Given the description of an element on the screen output the (x, y) to click on. 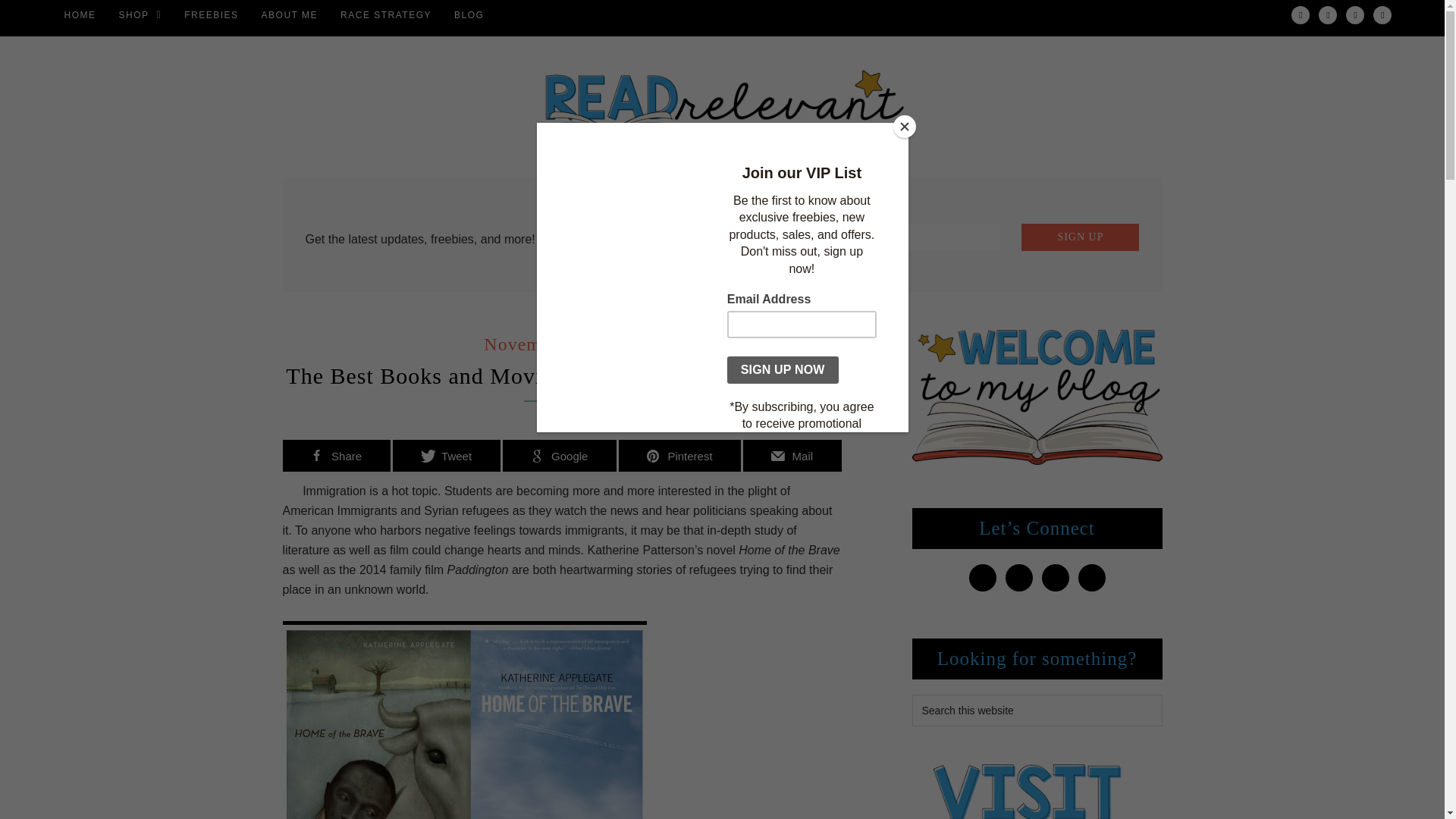
Share (336, 455)
RACE STRATEGY (385, 15)
FREEBIES (210, 15)
BLOG (468, 15)
SHOP (140, 15)
Google (558, 455)
Tweet (446, 455)
Mail (791, 455)
Sign Up (1080, 236)
ABOUT ME (289, 15)
Pinterest (679, 455)
HOME (79, 15)
Sign Up (1080, 236)
